Given the description of an element on the screen output the (x, y) to click on. 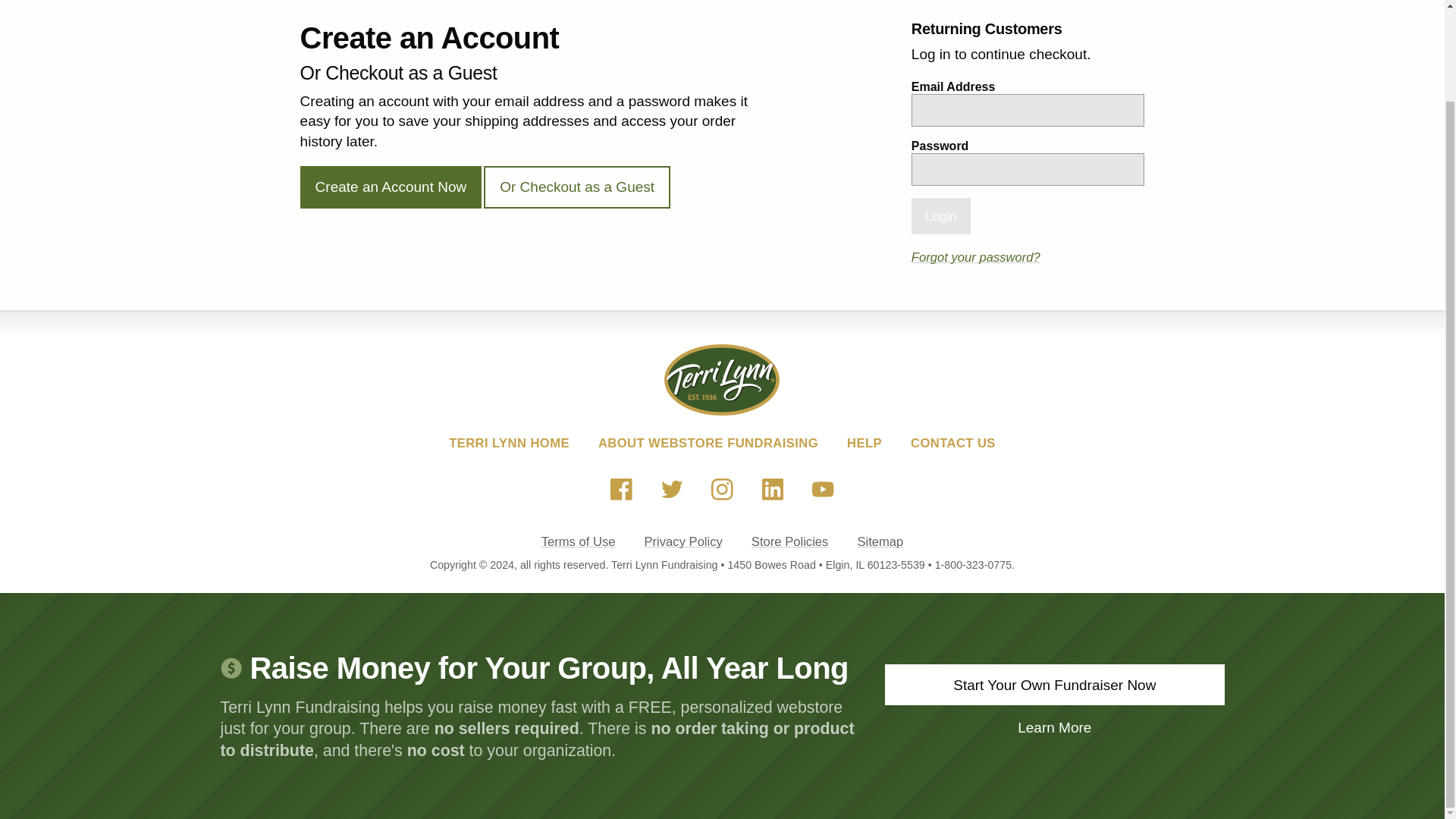
Privacy Policy (682, 541)
Connect with Terri Lynn Fundraising on LinkedIn (772, 489)
Terms of Use (578, 541)
Forgot your password? (976, 257)
HELP (864, 442)
Or Checkout as a Guest (576, 187)
CONTACT US (953, 442)
Sitemap (879, 541)
Like Terri Lynn Fundraising on Facebook (622, 489)
Login (941, 216)
